Given the description of an element on the screen output the (x, y) to click on. 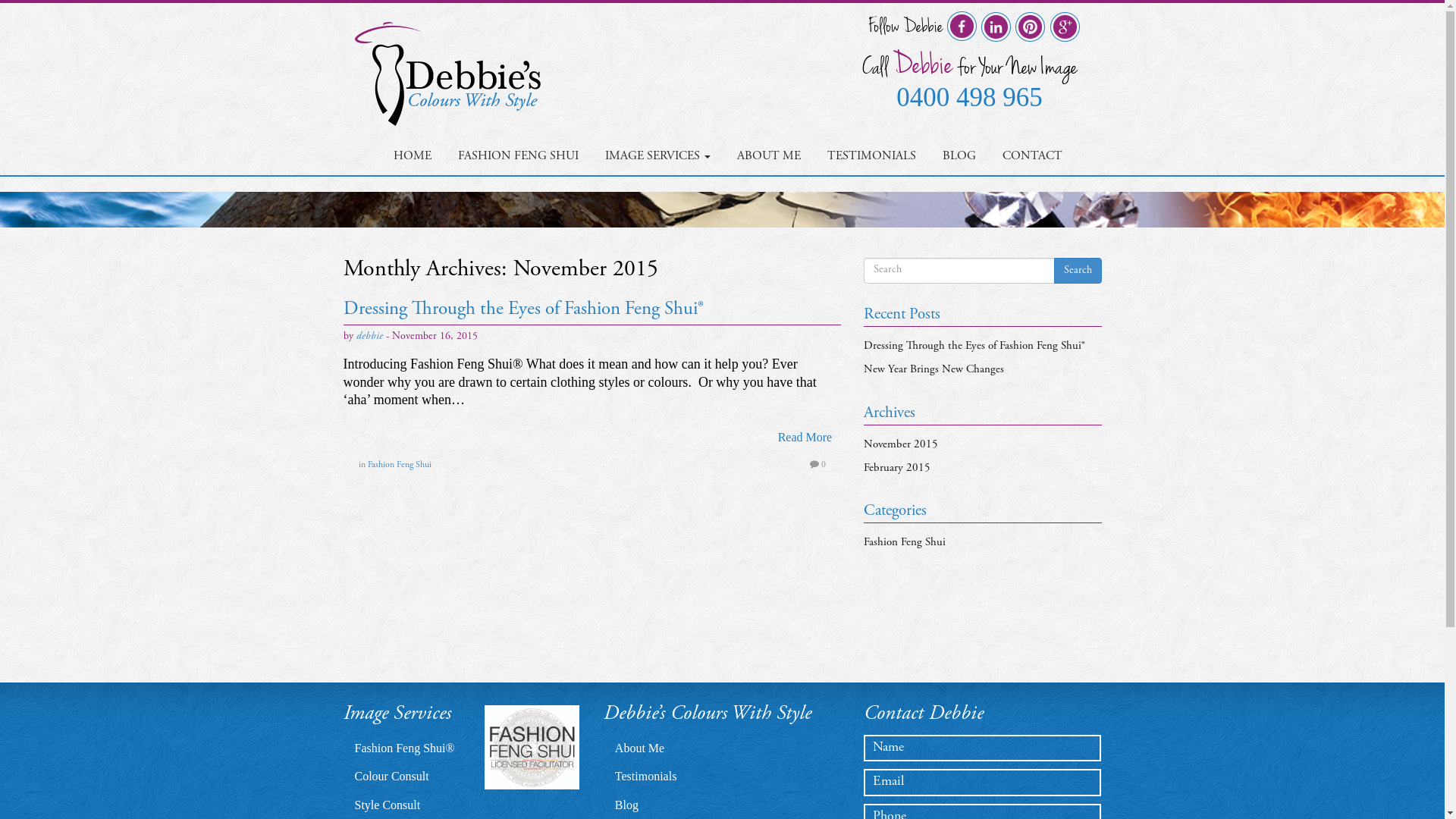
FASHION FENG SHUI Element type: text (517, 156)
Colour Consult Element type: text (391, 775)
Fashion Feng Shui Element type: text (398, 464)
February 2015 Element type: text (896, 467)
debbie Element type: text (369, 336)
0 Element type: text (817, 464)
IMAGE SERVICES Element type: text (657, 156)
HOME Element type: text (412, 156)
CONTACT Element type: text (1032, 156)
Testimonials Element type: text (646, 775)
Read More Element type: text (804, 437)
Blog Element type: text (626, 804)
TESTIMONIALS Element type: text (871, 156)
BLOG Element type: text (959, 156)
November 2015 Element type: text (900, 444)
About Me Element type: text (639, 747)
Fashion Feng Shui Element type: text (904, 542)
Search Element type: text (1077, 270)
ABOUT ME Element type: text (768, 156)
Style Consult Element type: text (387, 804)
New Year Brings New Changes Element type: text (933, 369)
Debbie Cunningham Element type: hover (446, 73)
